Given the description of an element on the screen output the (x, y) to click on. 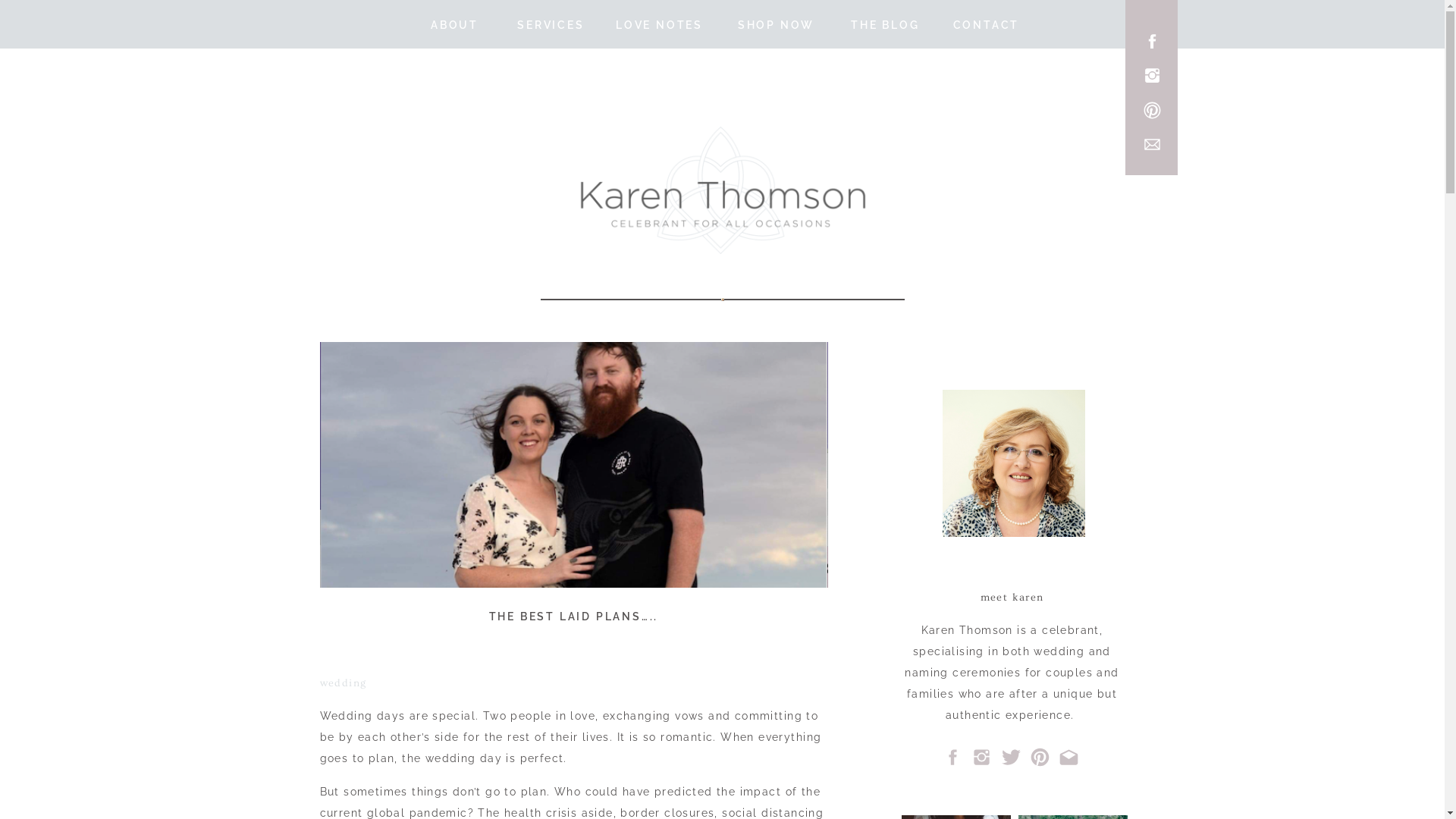
LOVE NOTES Element type: text (659, 24)
SERVICES Element type: text (550, 24)
SHOP NOW Element type: text (776, 24)
THE BLOG Element type: text (884, 24)
ABOUT Element type: text (454, 24)
CONTACT Element type: text (986, 24)
wedding Element type: text (343, 683)
